Given the description of an element on the screen output the (x, y) to click on. 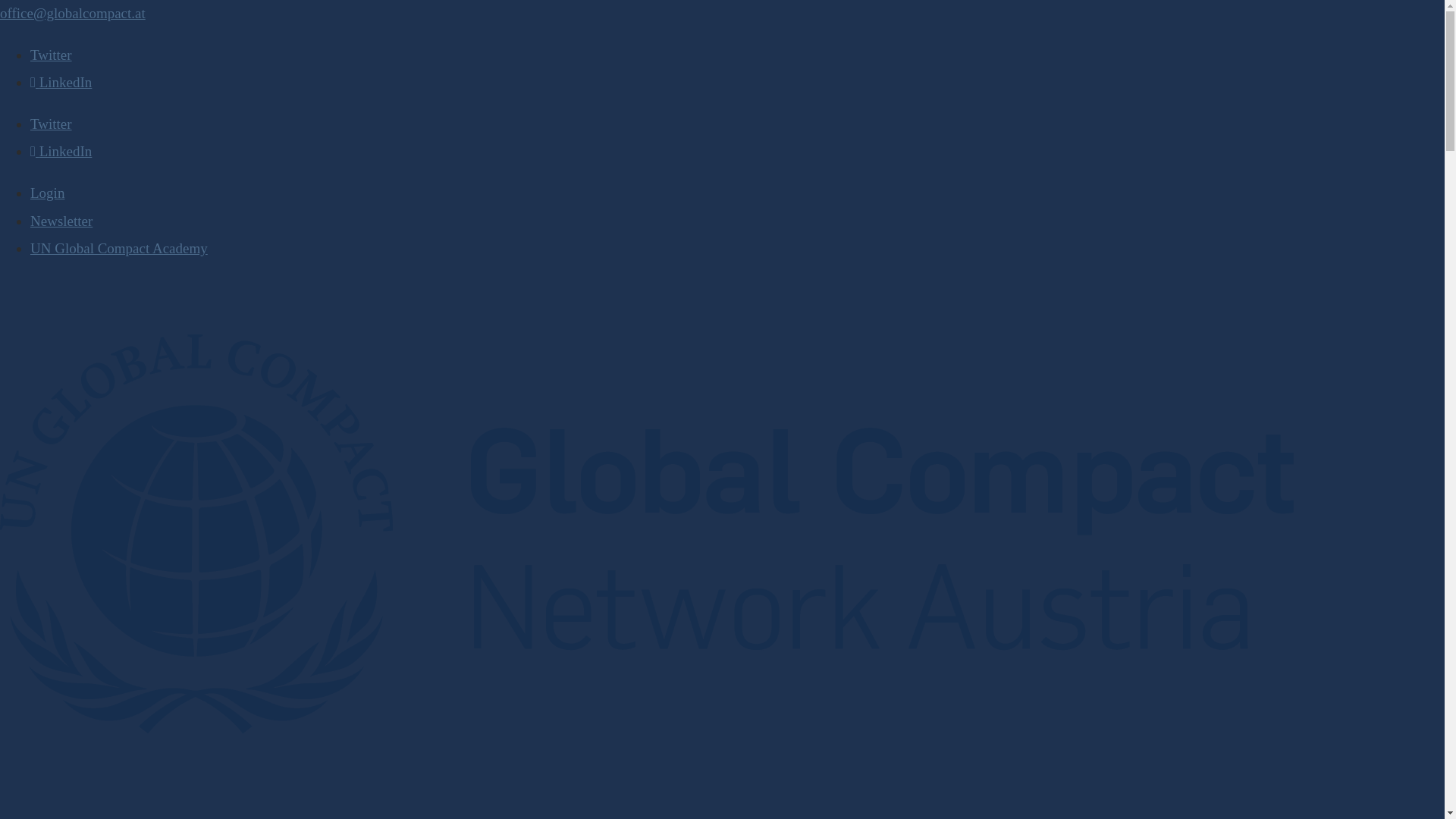
UN Global Compact Academy (119, 248)
Twitter (50, 54)
LinkedIn (60, 82)
LinkedIn (60, 150)
Newsletter (61, 220)
Twitter (50, 123)
Login (47, 192)
